Given the description of an element on the screen output the (x, y) to click on. 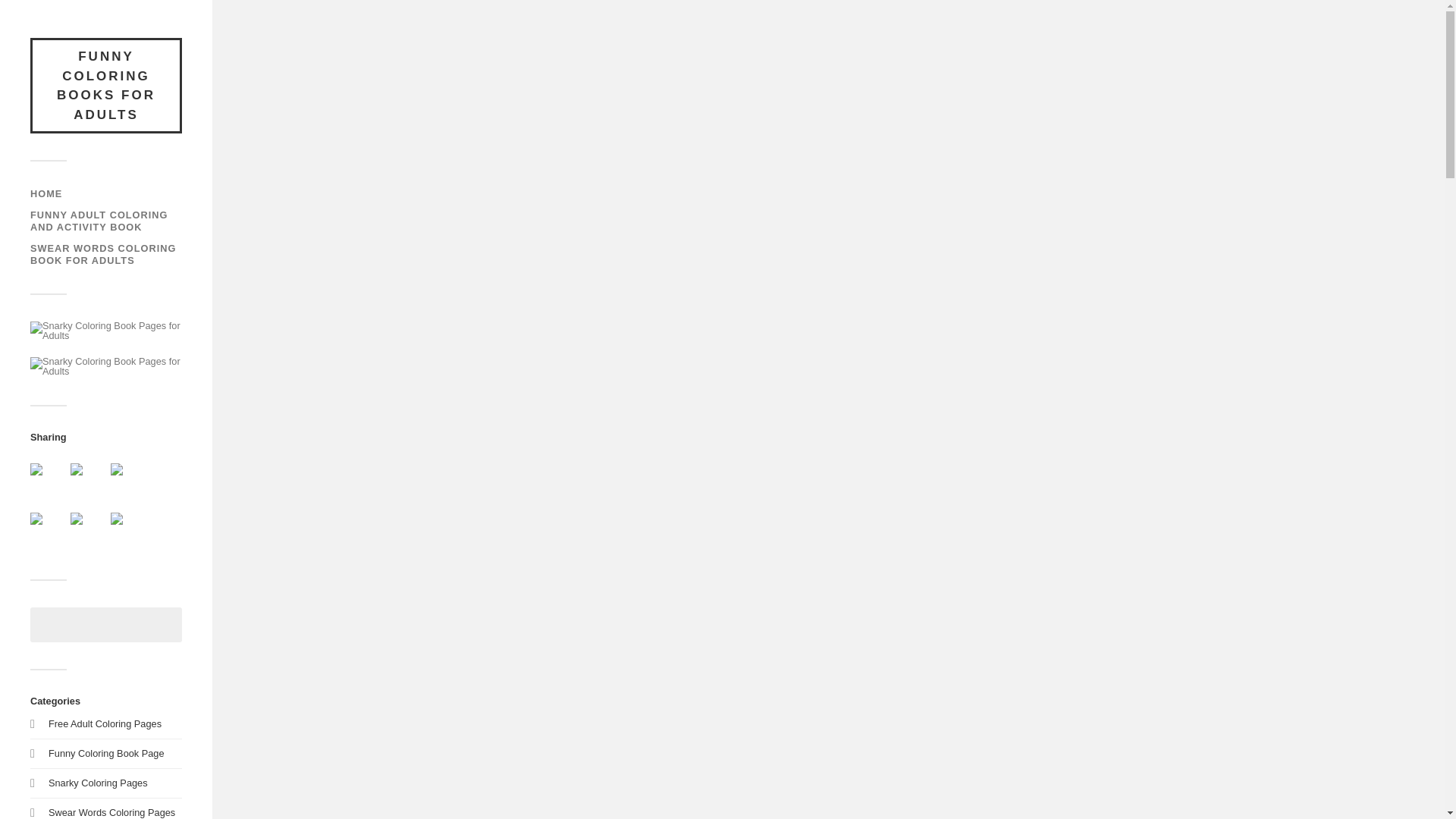
Free Adult Coloring Pages (104, 723)
Share by email (116, 518)
Share on Facebook (36, 469)
FUNNY COLORING BOOKS FOR ADULTS (106, 85)
Share by email (128, 530)
Pin it with Pinterest (48, 530)
Pin it with Pinterest (36, 518)
Share on Twitter (75, 469)
Share on Facebook (48, 481)
Share on Linkedin (87, 530)
